Given the description of an element on the screen output the (x, y) to click on. 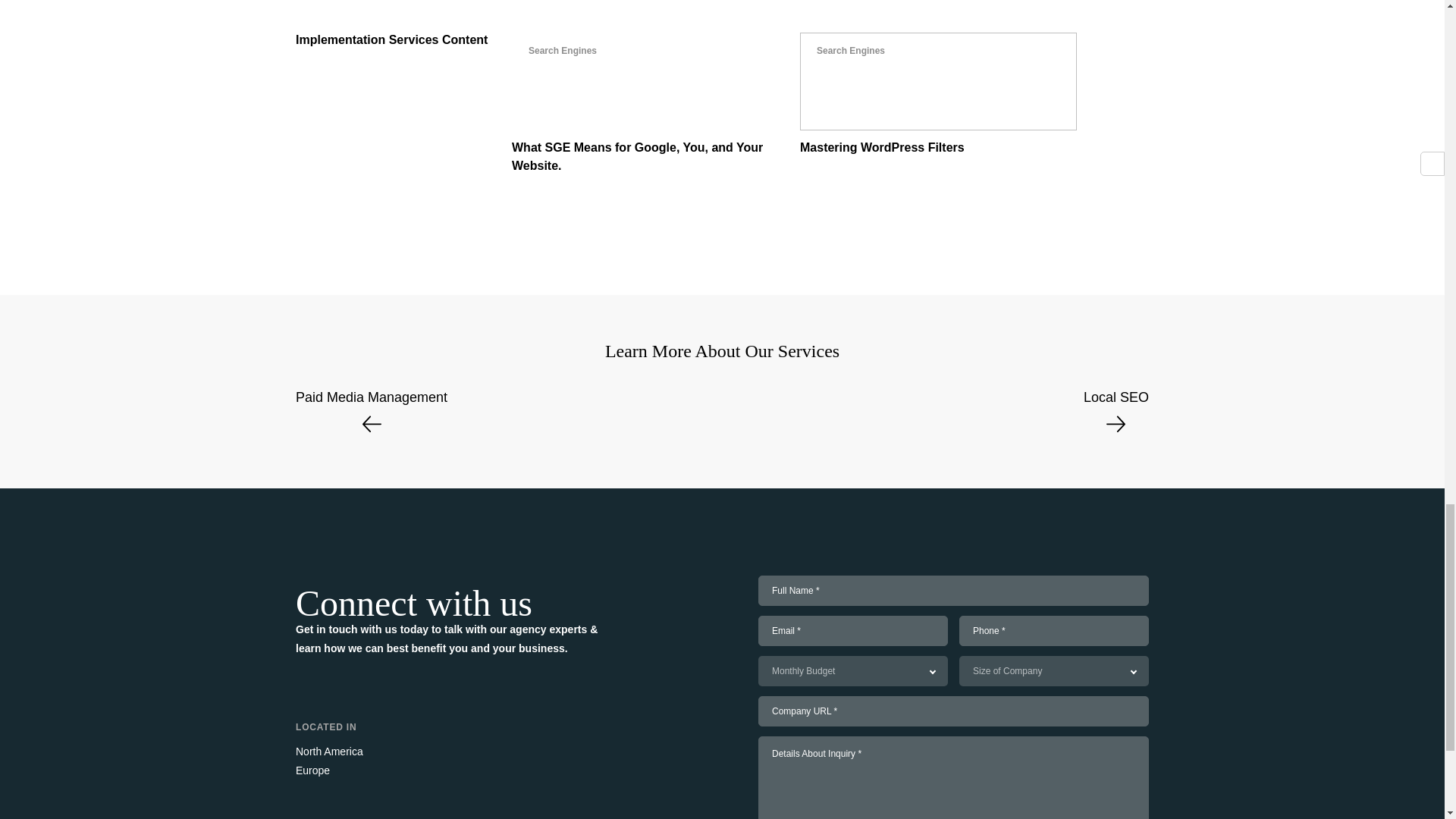
Paid Media Management (938, 94)
Local SEO (370, 416)
